Given the description of an element on the screen output the (x, y) to click on. 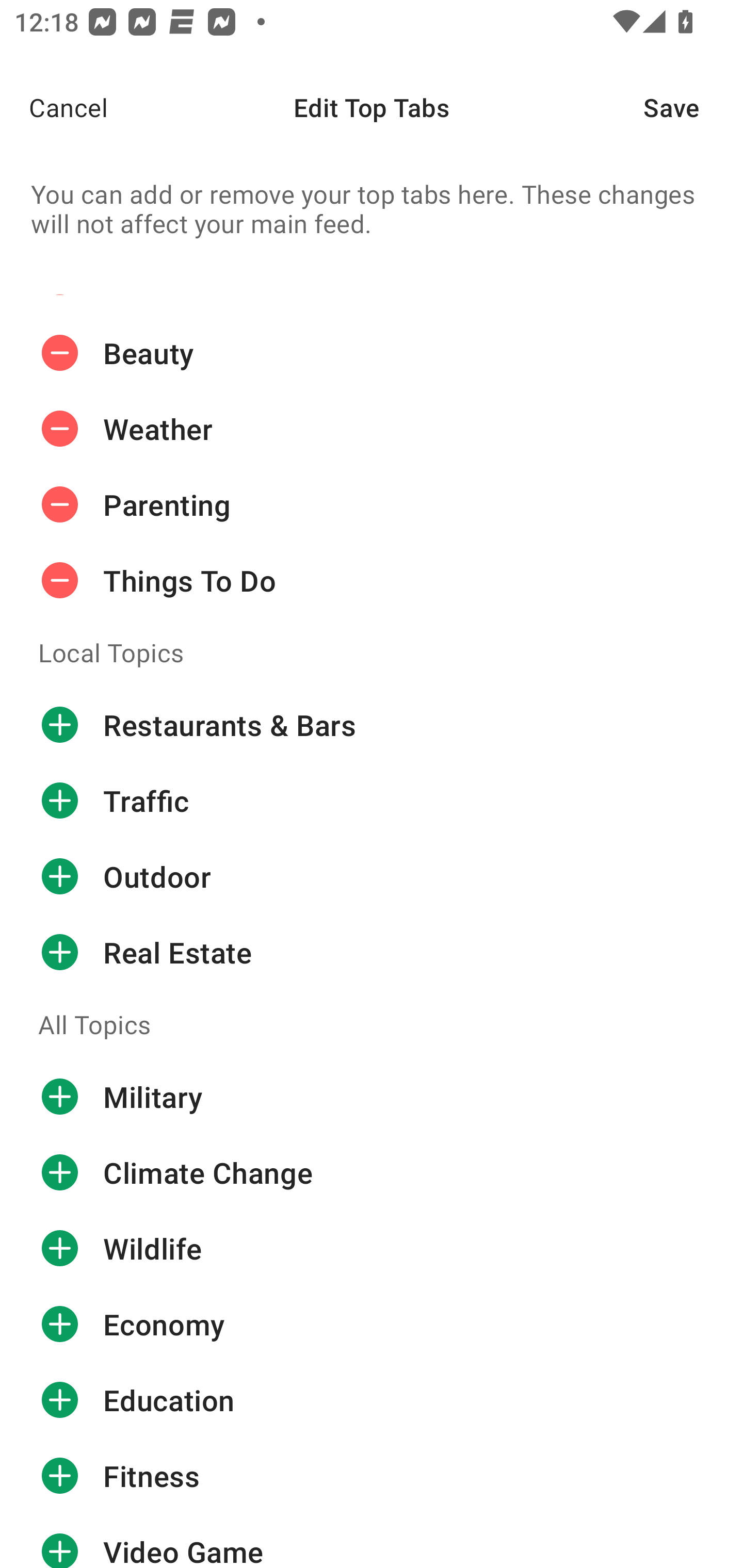
Cancel (53, 106)
Save (693, 106)
Beauty (371, 352)
Weather (371, 428)
Parenting (371, 504)
Things To Do (371, 579)
Restaurants & Bars (371, 724)
Traffic (371, 800)
Outdoor (371, 876)
Real Estate (371, 952)
Military (371, 1096)
Climate Change (371, 1172)
Wildlife (371, 1247)
Economy (371, 1323)
Education (371, 1399)
Fitness (371, 1475)
Video Game (371, 1540)
